Given the description of an element on the screen output the (x, y) to click on. 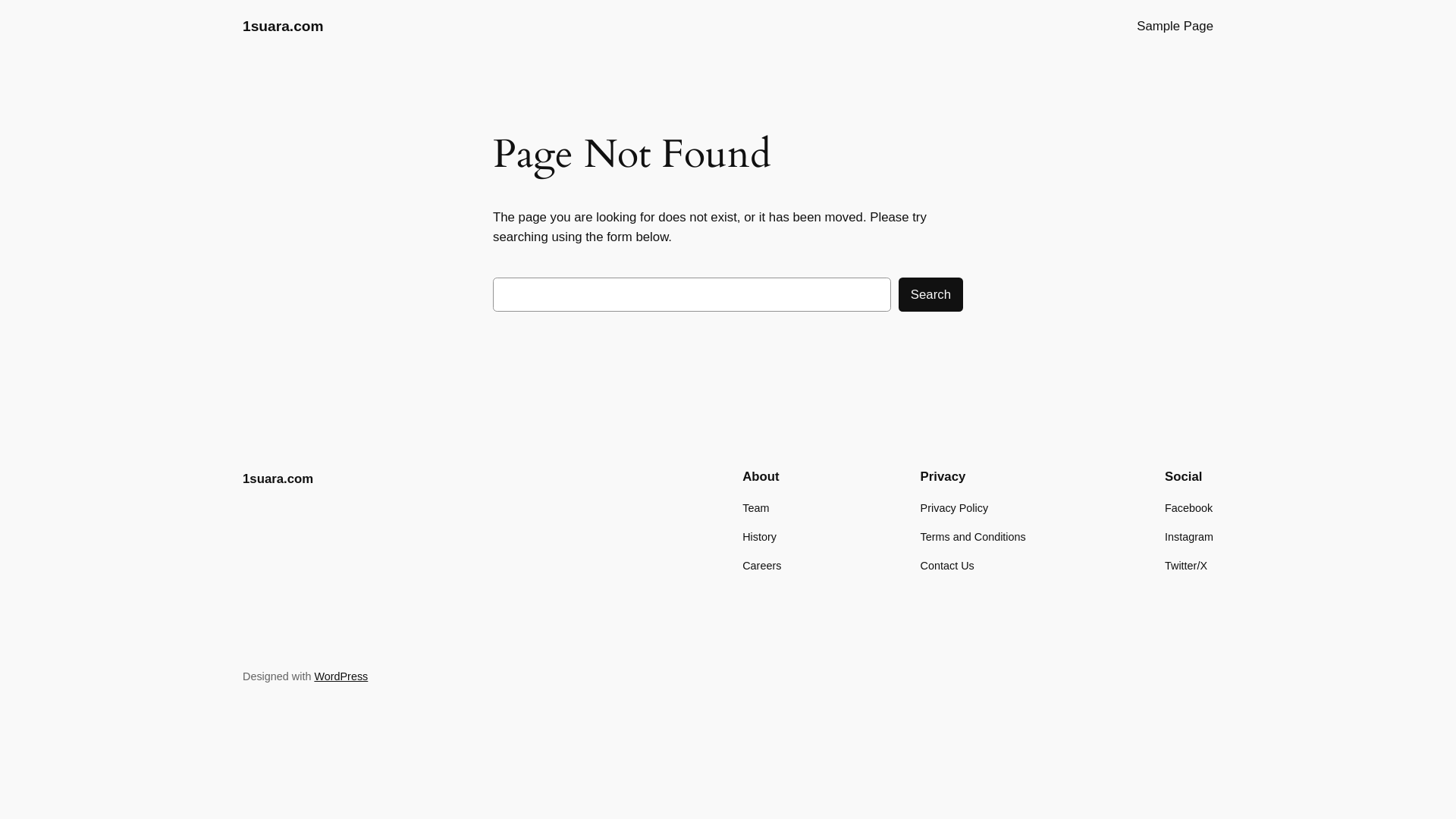
Sample Page Element type: text (1174, 26)
Contact Us Element type: text (947, 565)
1suara.com Element type: text (277, 478)
Careers Element type: text (761, 565)
Facebook Element type: text (1188, 507)
Instagram Element type: text (1188, 536)
Team Element type: text (755, 507)
1suara.com Element type: text (282, 26)
Terms and Conditions Element type: text (973, 536)
Search Element type: text (930, 294)
Privacy Policy Element type: text (954, 507)
History Element type: text (759, 536)
WordPress Element type: text (340, 676)
Twitter/X Element type: text (1185, 565)
